Given the description of an element on the screen output the (x, y) to click on. 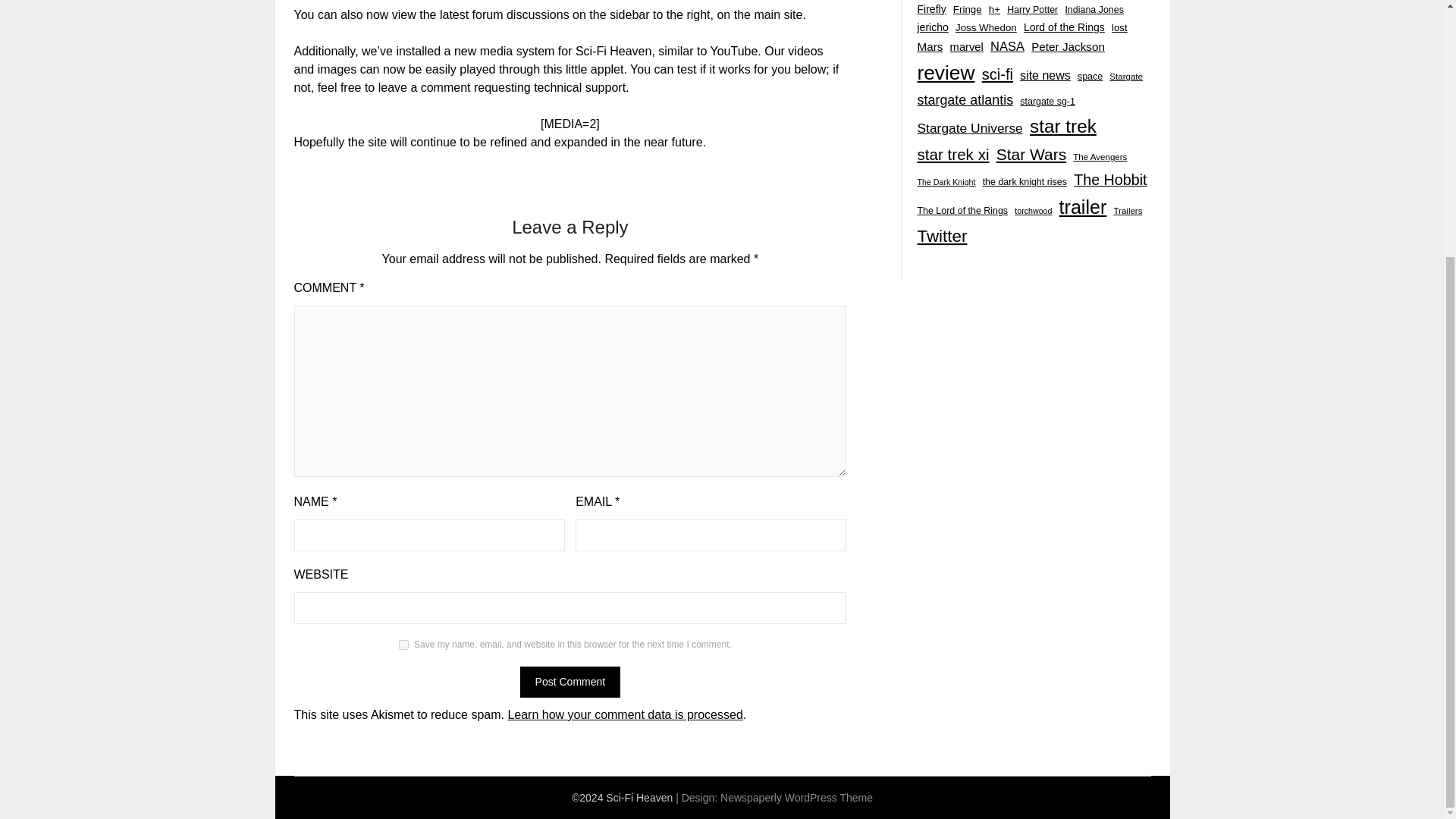
Firefly (930, 9)
Learn how your comment data is processed (624, 714)
Post Comment (570, 680)
marvel (967, 46)
Fringe (967, 9)
jericho (932, 27)
Mars (929, 46)
Harry Potter (1032, 9)
Post Comment (570, 680)
Indiana Jones (1093, 9)
